Given the description of an element on the screen output the (x, y) to click on. 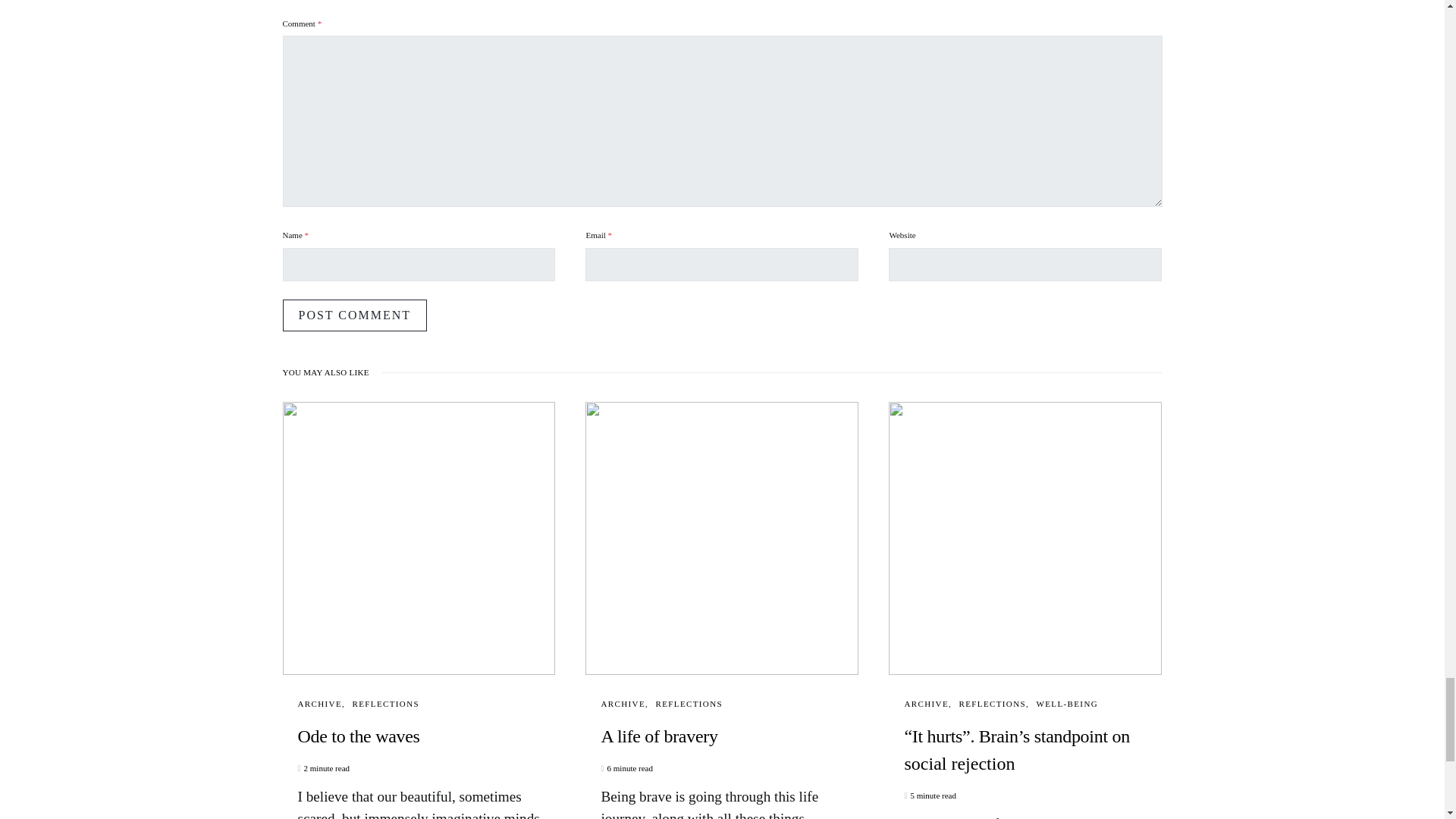
Post Comment (354, 315)
Ode to the waves (418, 736)
A life of bravery (721, 736)
